Given the description of an element on the screen output the (x, y) to click on. 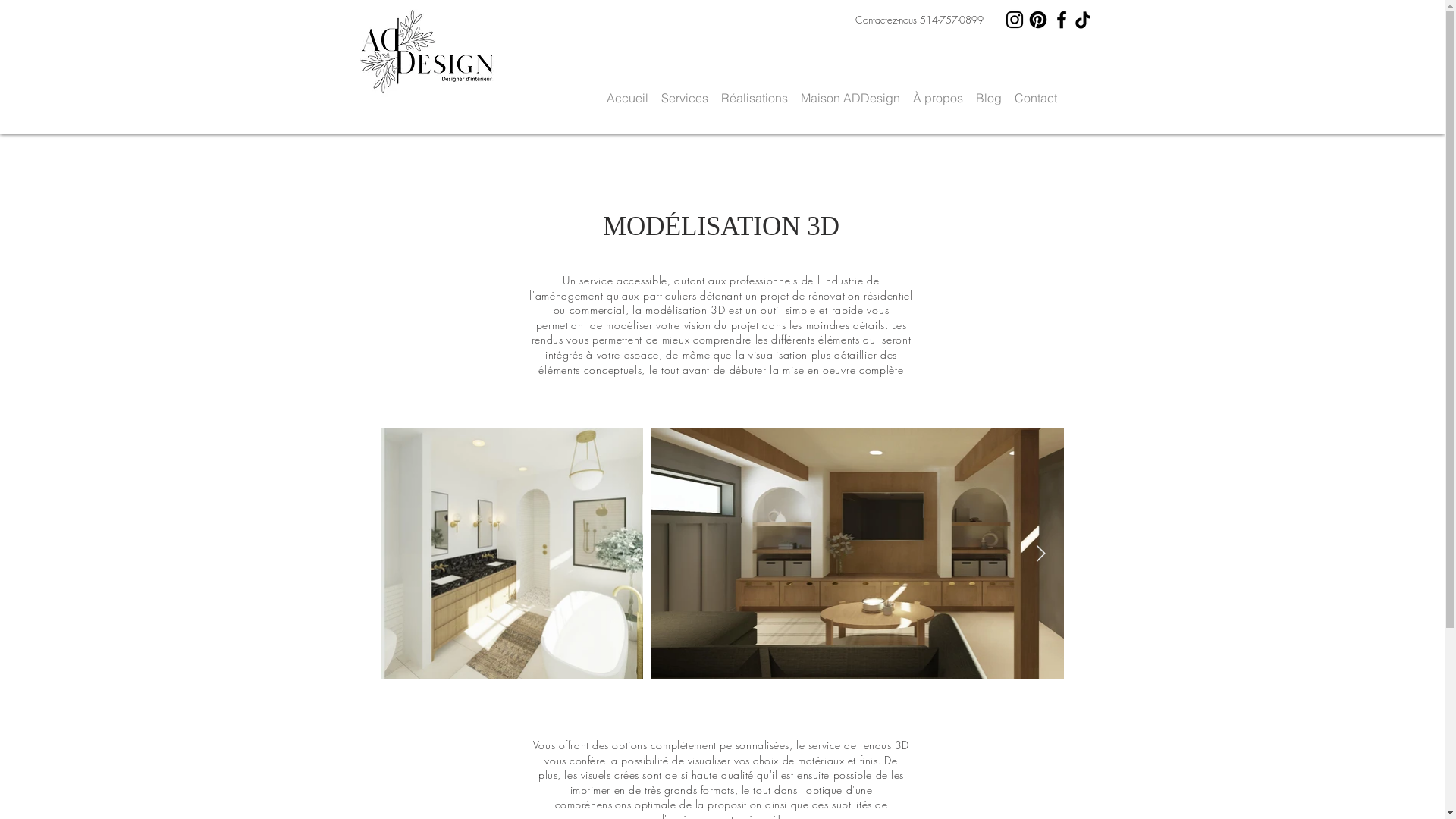
Contactez-nous 514-757-0899 Element type: text (919, 19)
Services Element type: text (685, 90)
Blog Element type: text (988, 90)
Accueil Element type: text (627, 90)
Maison ADDesign Element type: text (850, 90)
Contact Element type: text (1035, 90)
